Given the description of an element on the screen output the (x, y) to click on. 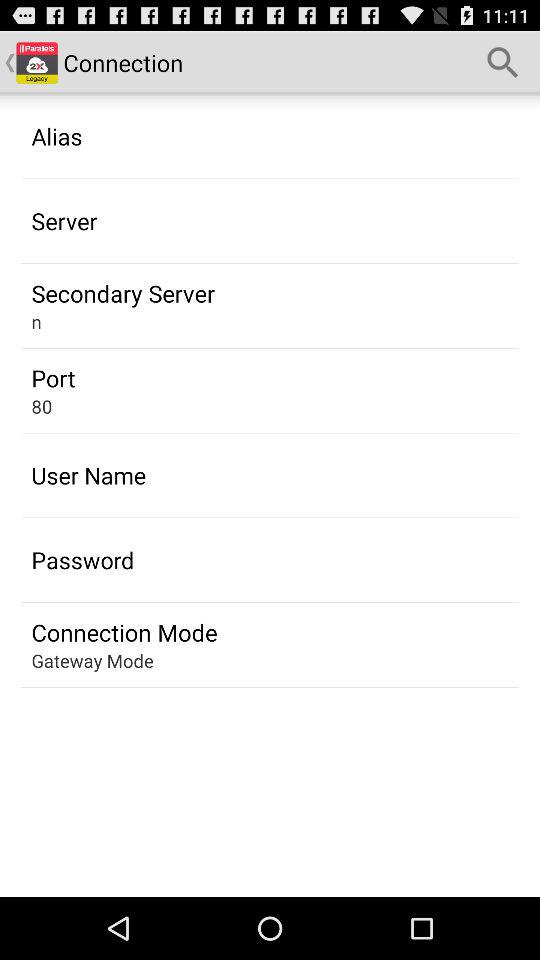
tap app below password (124, 632)
